Given the description of an element on the screen output the (x, y) to click on. 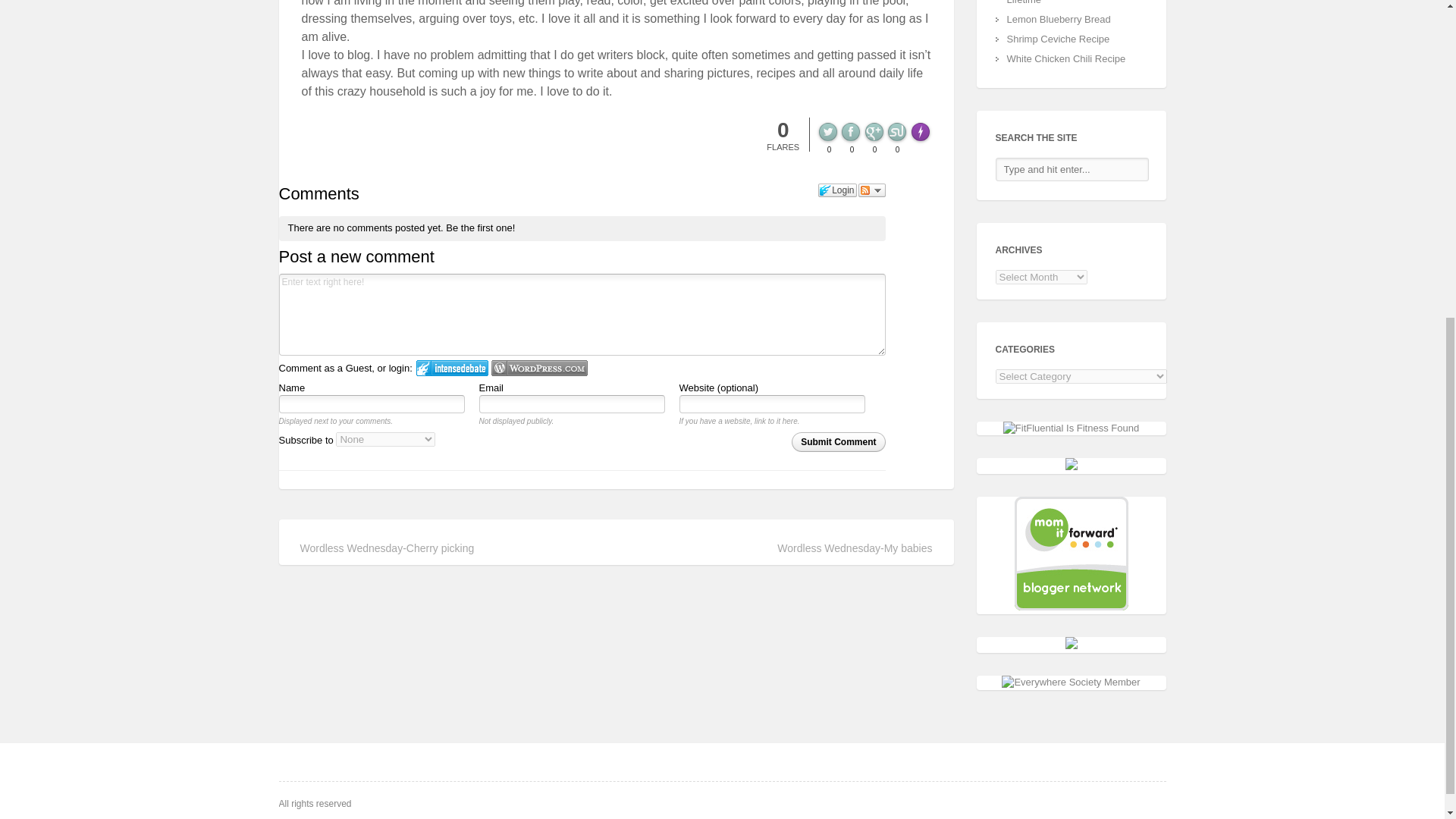
Login (837, 190)
